Given the description of an element on the screen output the (x, y) to click on. 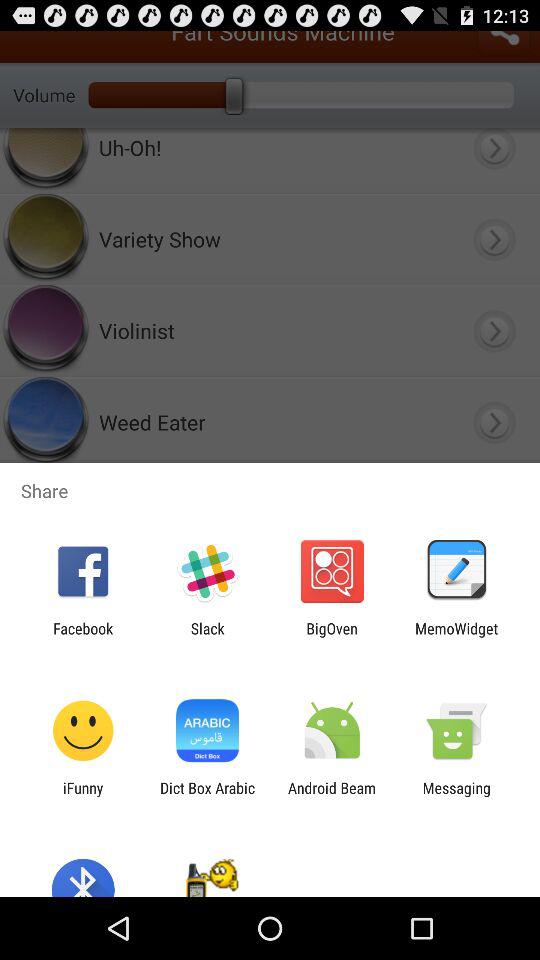
select the icon next to messaging app (332, 796)
